Given the description of an element on the screen output the (x, y) to click on. 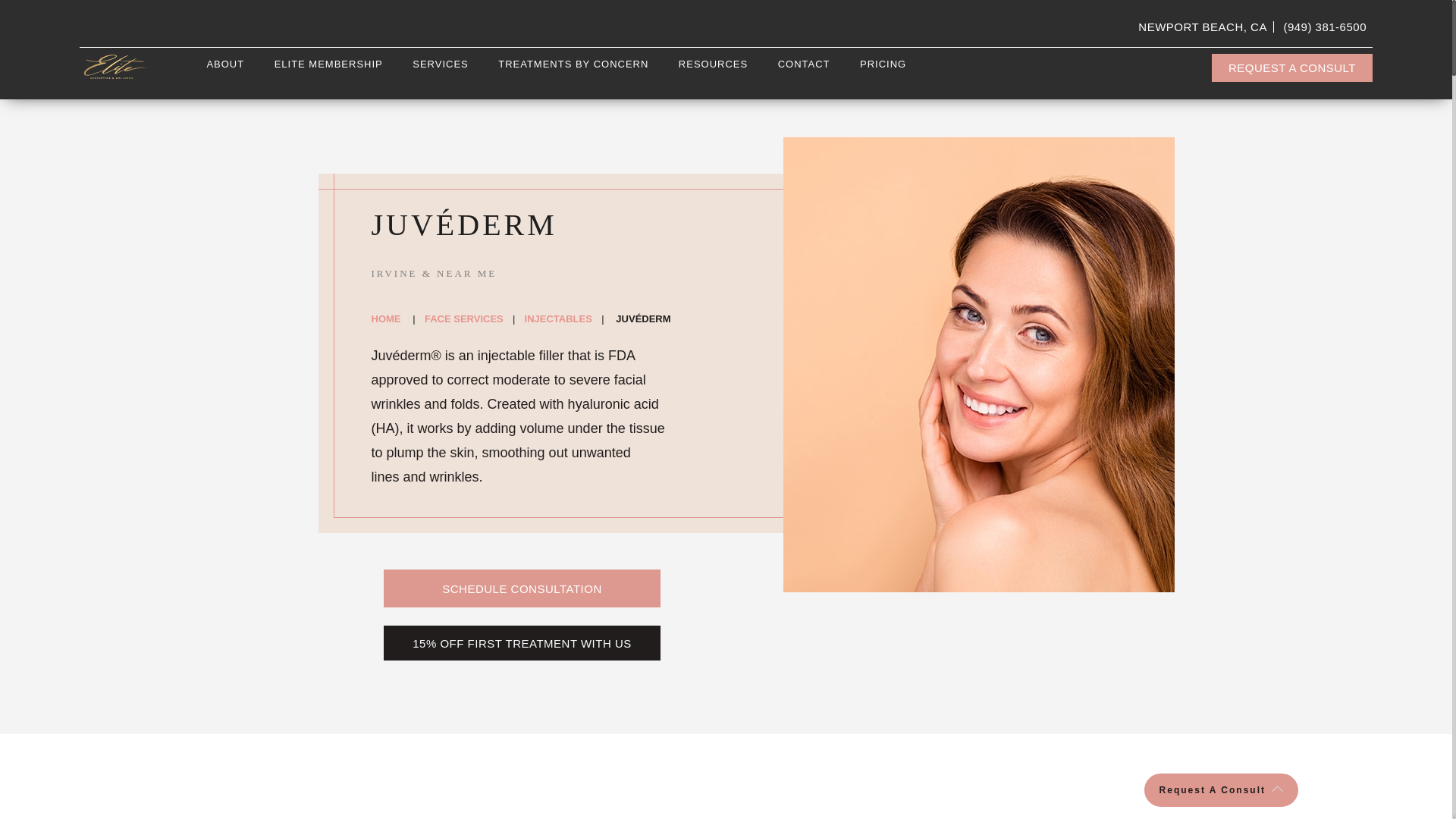
ELITE MEMBERSHIP (328, 63)
NEWPORT BEACH, CA (1202, 26)
ABOUT (225, 63)
SERVICES (440, 69)
